Given the description of an element on the screen output the (x, y) to click on. 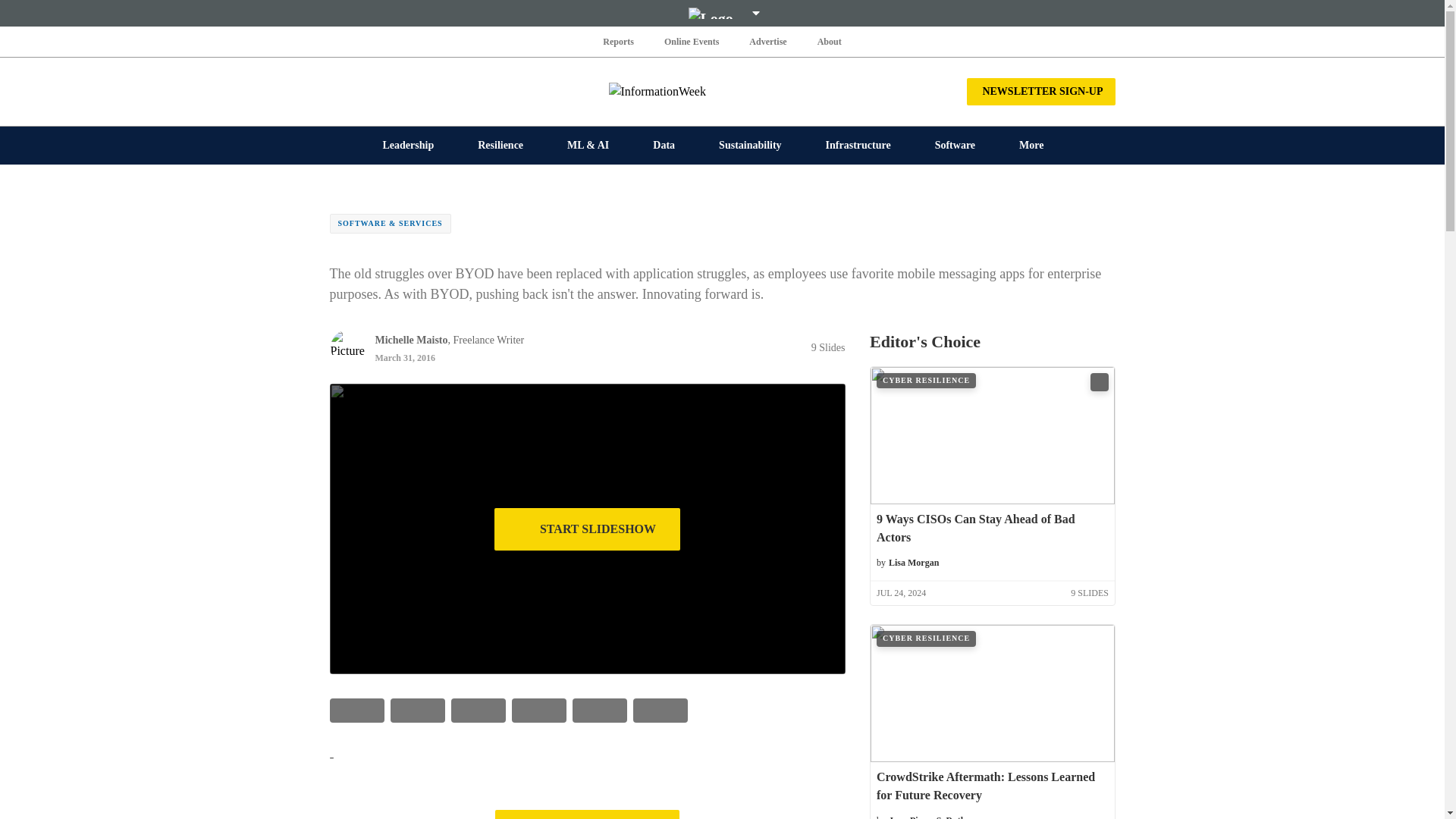
Online Events (691, 41)
Reports (618, 41)
Advertise (767, 41)
NEWSLETTER SIGN-UP (1040, 90)
About (828, 41)
InformationWeek (721, 91)
